Given the description of an element on the screen output the (x, y) to click on. 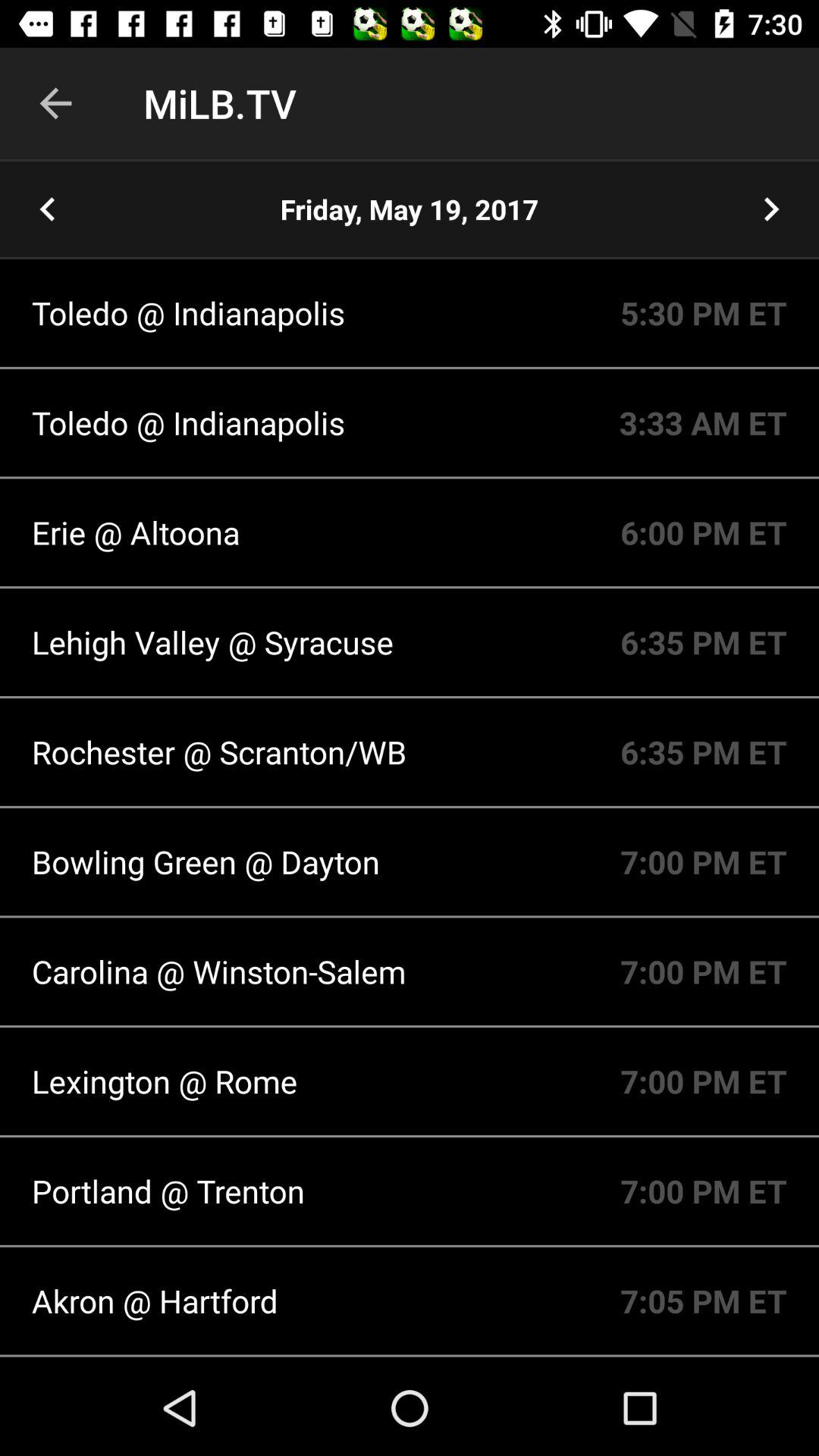
go to the next day (771, 209)
